Given the description of an element on the screen output the (x, y) to click on. 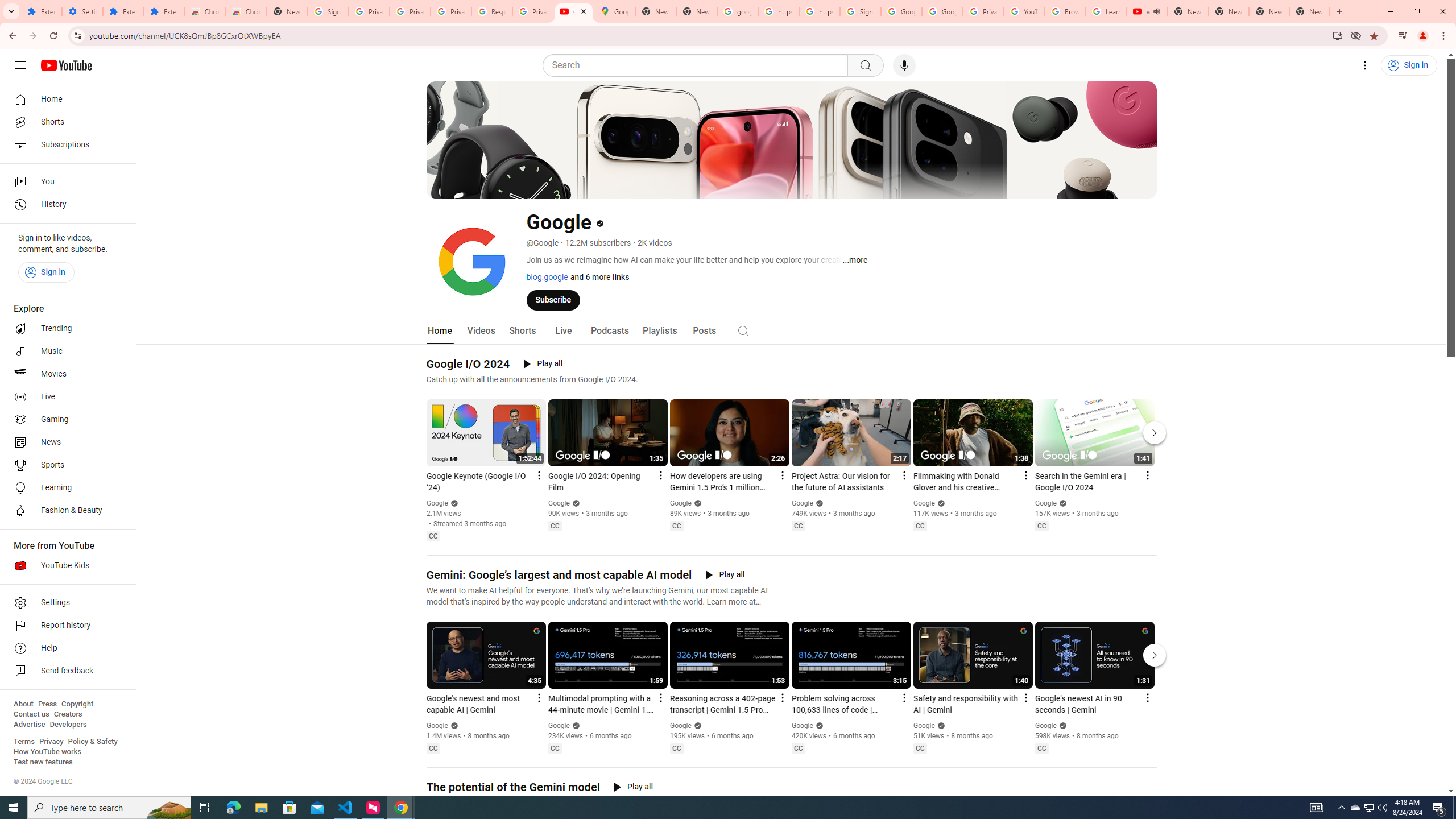
Google I/O 2024 (467, 363)
Policy & Safety (91, 741)
New Tab (287, 11)
Sign in - Google Accounts (860, 11)
Posts (703, 330)
Report history (64, 625)
